Given the description of an element on the screen output the (x, y) to click on. 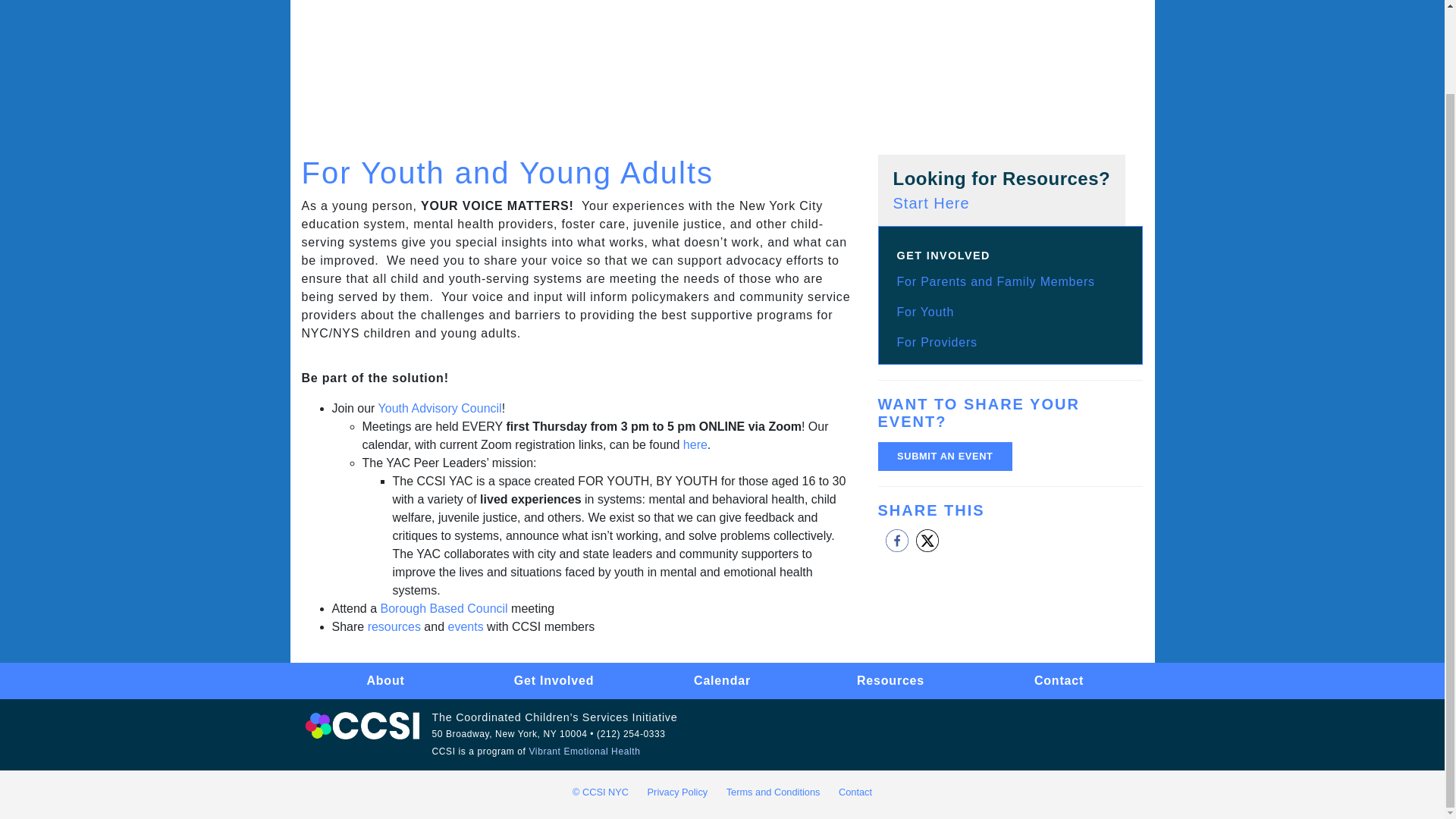
SUBMIT AN EVENT (945, 456)
resources (394, 626)
For Providers (936, 341)
Youth Advisory Council (440, 408)
Borough Based Council (444, 608)
Contact (1058, 680)
For Youth (924, 311)
Resources (890, 680)
About (1001, 190)
